Given the description of an element on the screen output the (x, y) to click on. 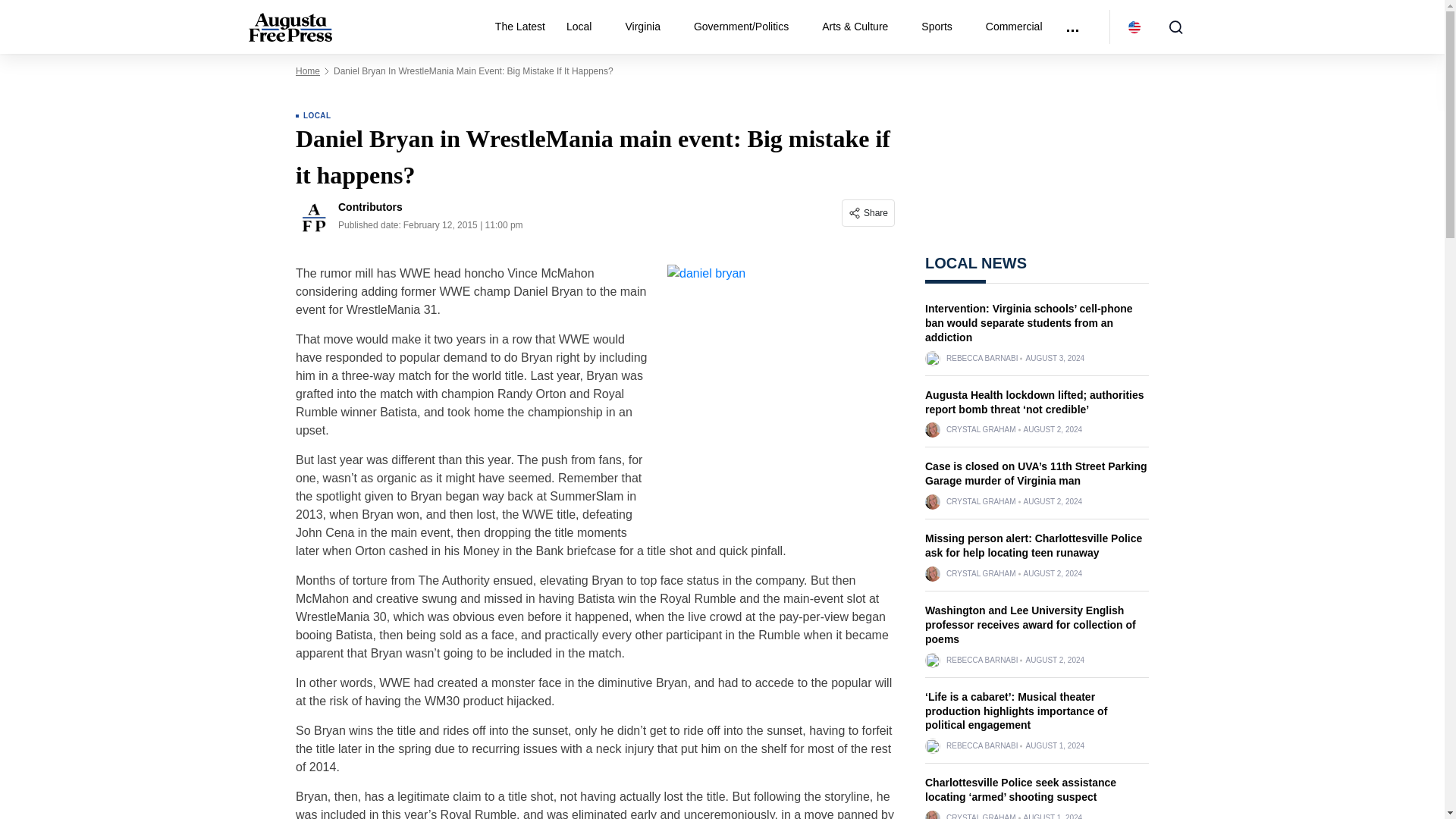
Local (585, 27)
Virginia (648, 27)
Sports (942, 27)
Commercial (1013, 27)
The Latest (520, 27)
